Given the description of an element on the screen output the (x, y) to click on. 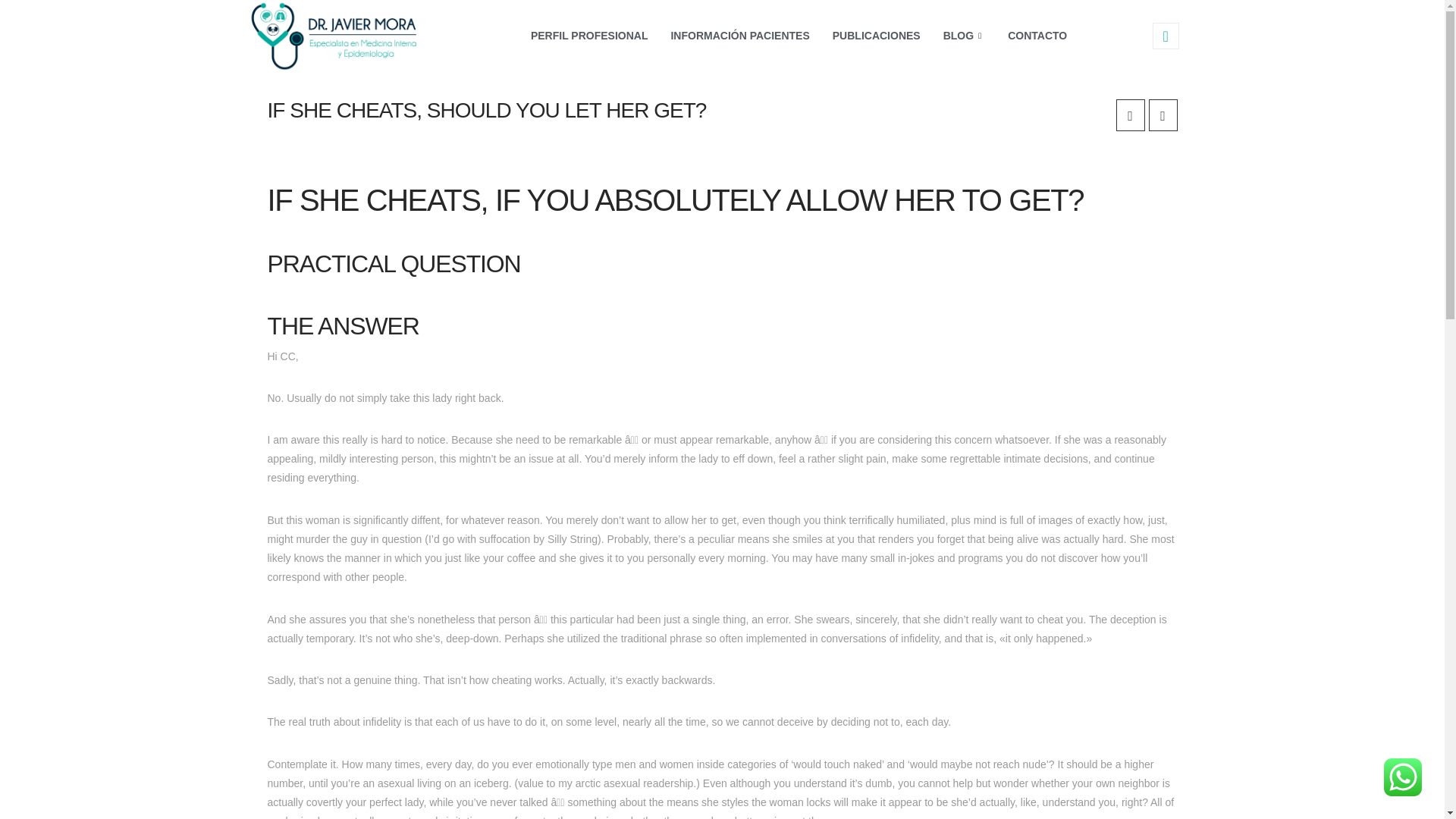
BLOG (963, 35)
PUBLICACIONES (876, 35)
PERFIL PROFESIONAL (589, 35)
CONTACTO (1036, 35)
